Given the description of an element on the screen output the (x, y) to click on. 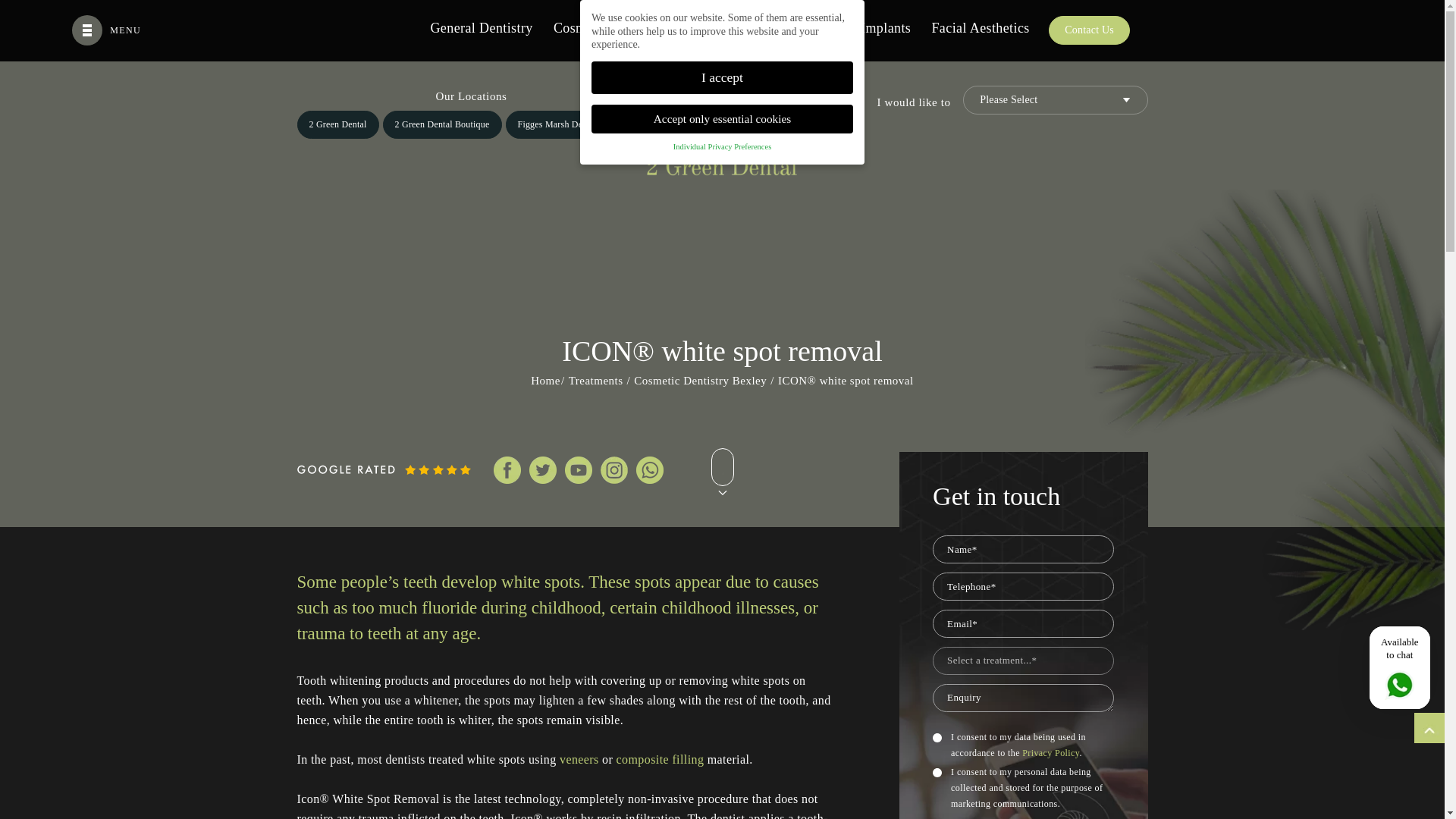
Cosmetic Dentistry (608, 28)
1 (937, 772)
Book Online (1008, 31)
Dental Implants (864, 28)
Teeth Straightening (741, 28)
Contact Us (1107, 31)
General Dentistry (485, 28)
1 (937, 737)
Facial Aesthetics (980, 28)
Call 01322 521 044 (884, 31)
MENU (106, 25)
